Given the description of an element on the screen output the (x, y) to click on. 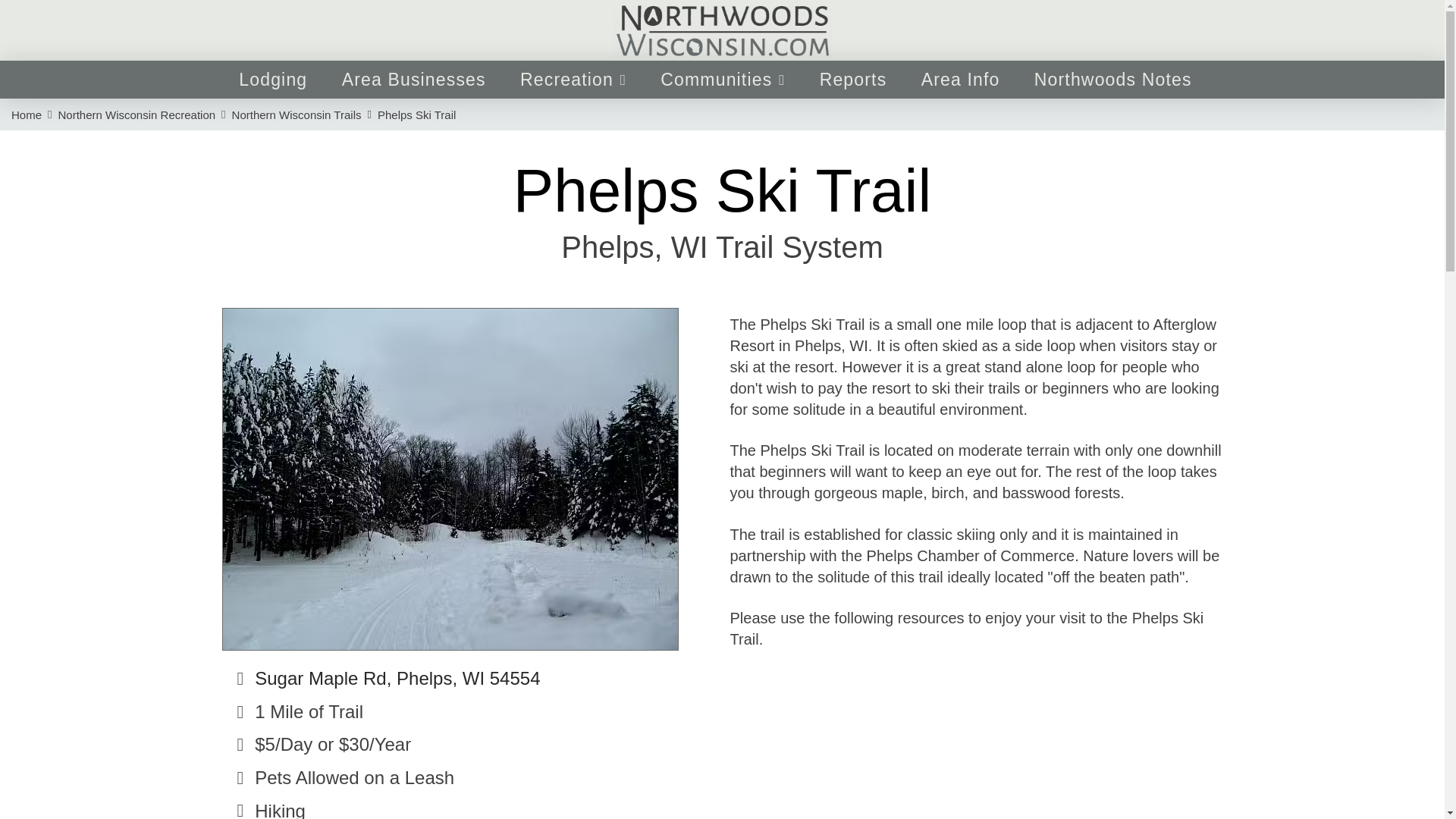
Communities (722, 79)
Sugar Maple Rd, Phelps, WI 54554 (397, 678)
Northwoods Notes (1112, 79)
Recreation (571, 79)
Northern Wisconsin Recreation (136, 114)
Lodging (272, 79)
Area Info (960, 79)
Phelps Ski Trail (416, 114)
You Are Here (416, 114)
Northern Wisconsin Trails (296, 114)
